Given the description of an element on the screen output the (x, y) to click on. 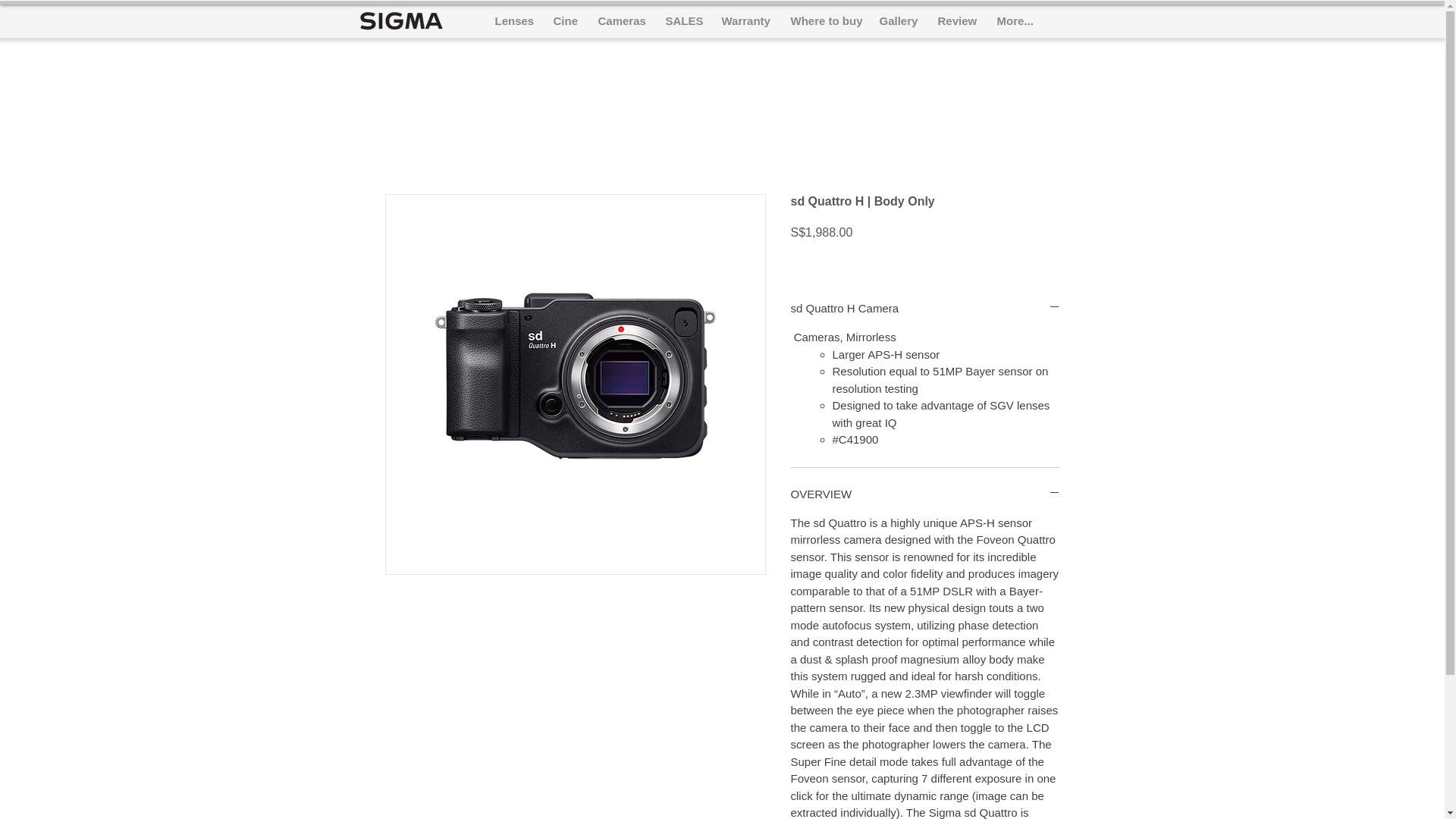
SALES (681, 20)
Where to buy (821, 20)
Cameras (618, 20)
Warranty (744, 20)
Review (954, 20)
Lenses (510, 20)
Cine (563, 20)
Gallery (896, 20)
